Given the description of an element on the screen output the (x, y) to click on. 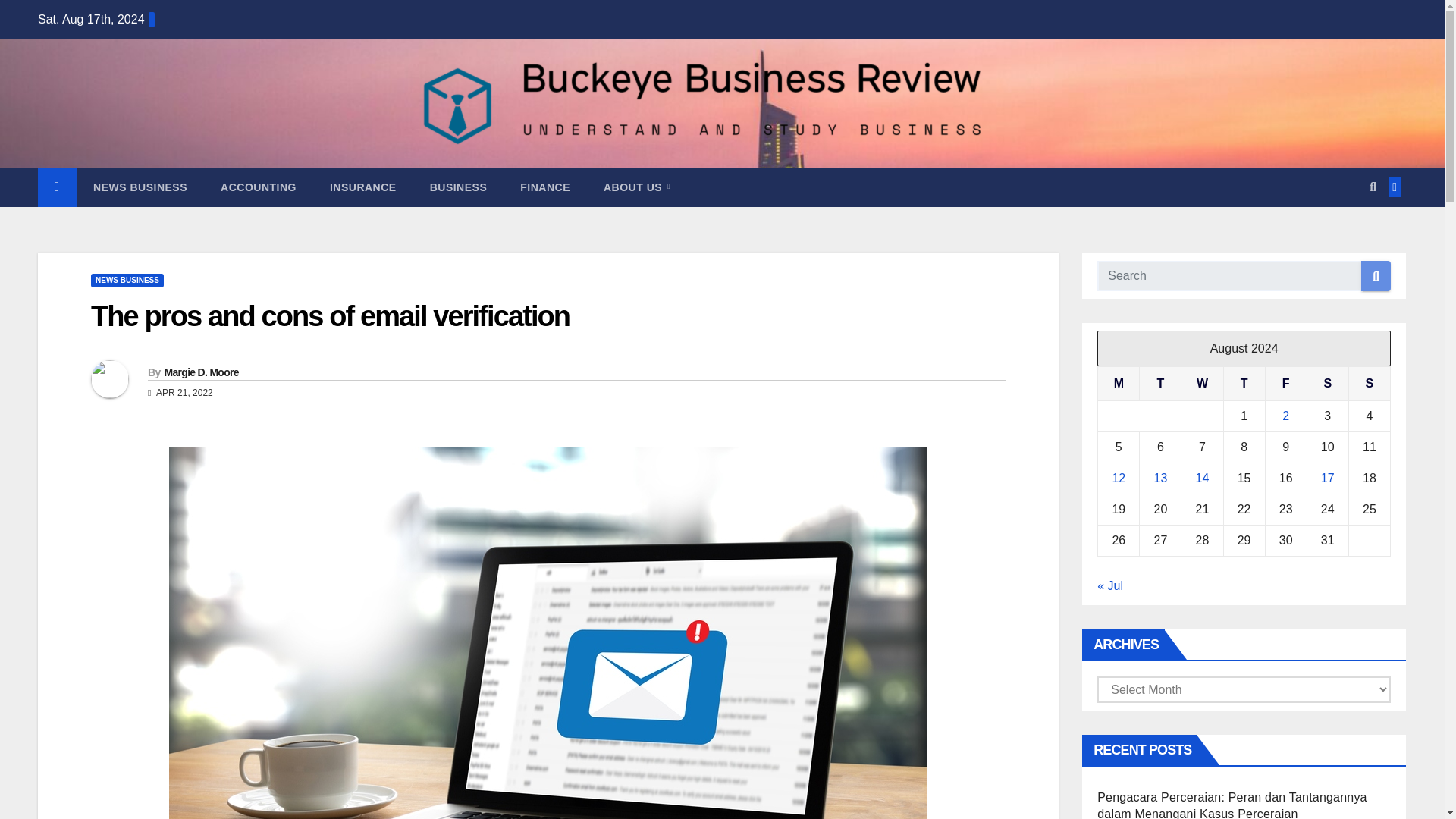
INSURANCE (363, 187)
News Business (140, 187)
FINANCE (544, 187)
BUSINESS (458, 187)
The pros and cons of email verification (329, 316)
About Us (636, 187)
Insurance (363, 187)
Permalink to: The pros and cons of email verification (329, 316)
Finance (544, 187)
